Given the description of an element on the screen output the (x, y) to click on. 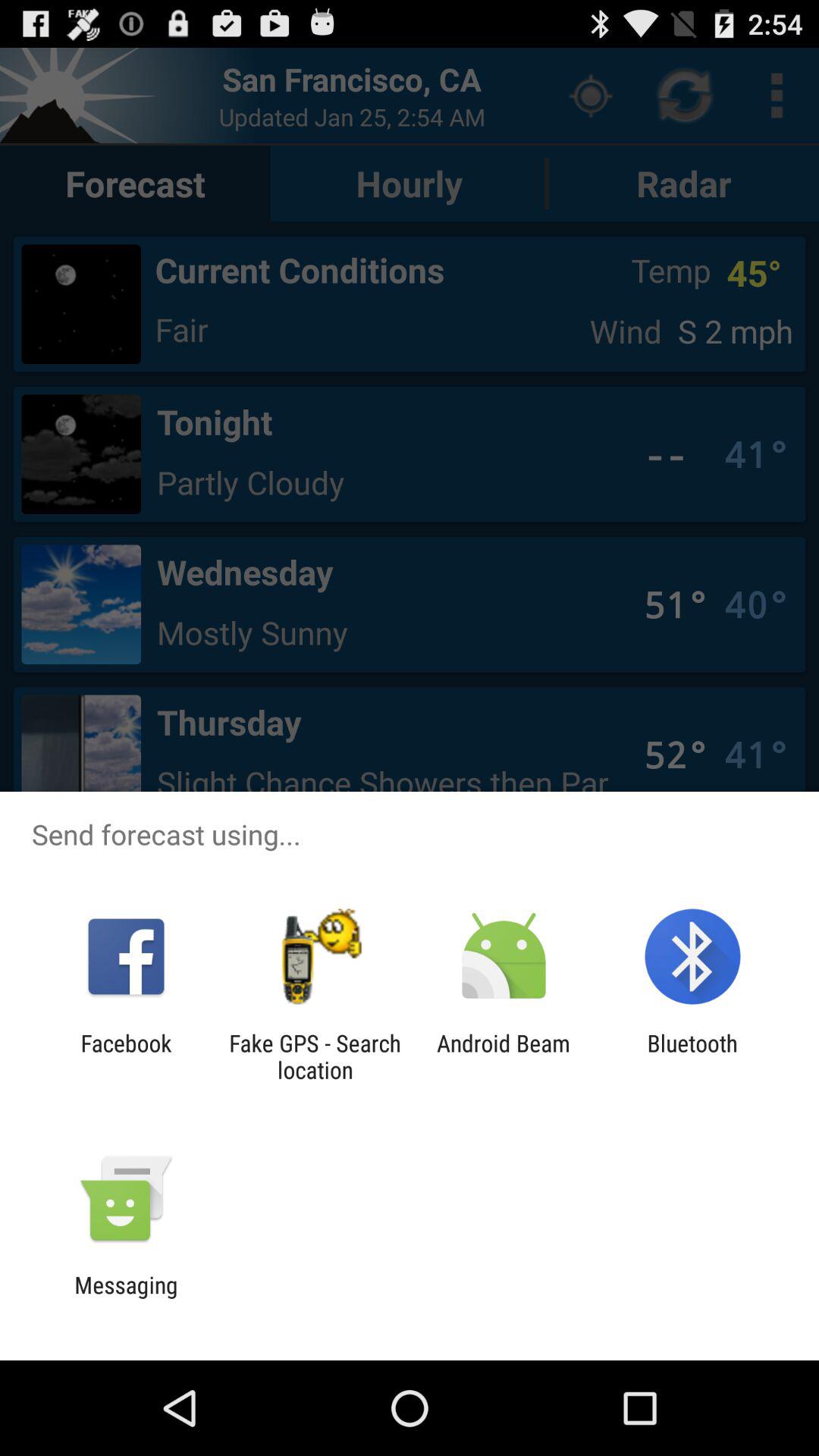
click the messaging icon (126, 1298)
